Given the description of an element on the screen output the (x, y) to click on. 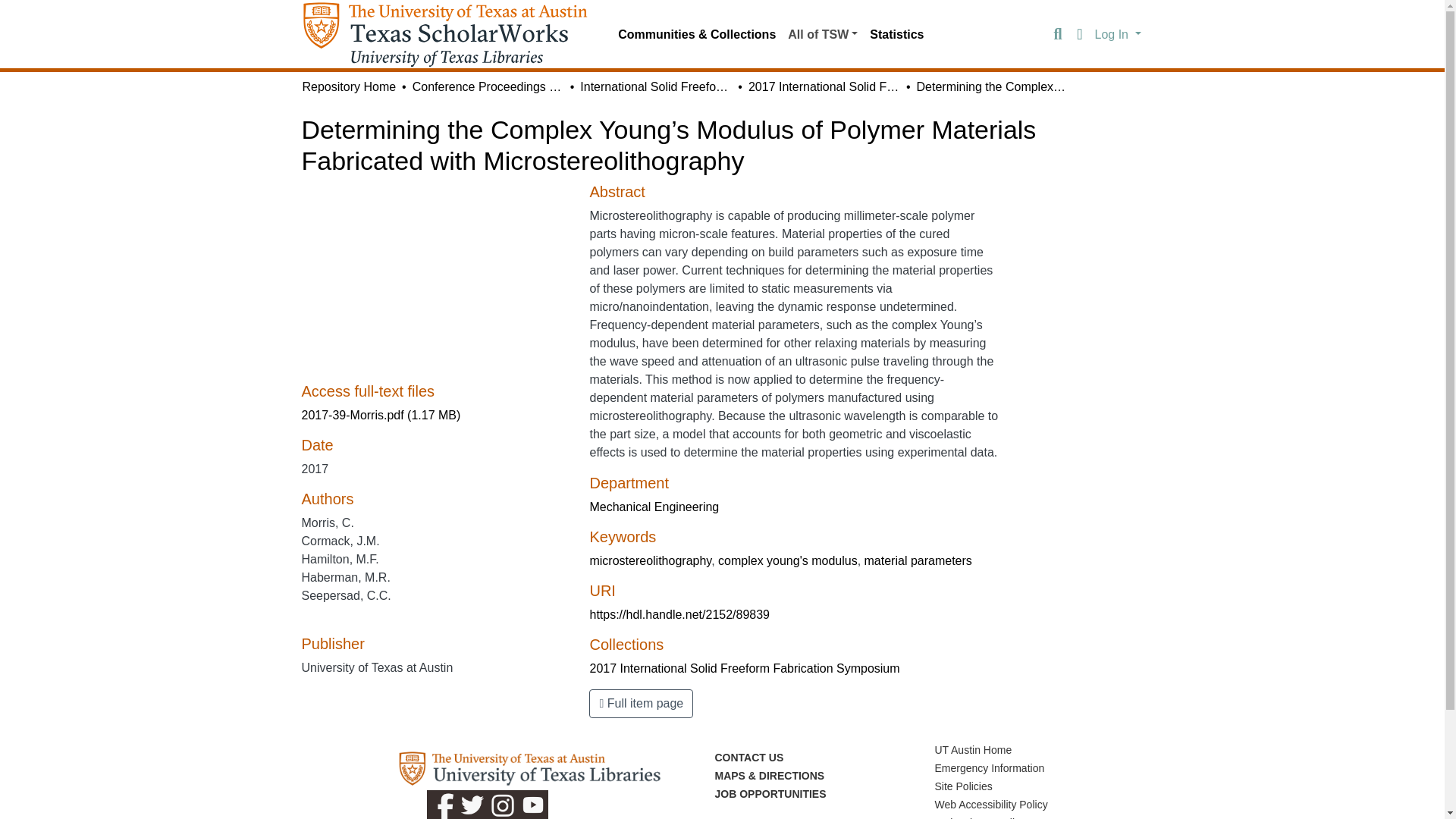
2017 International Solid Freeform Fabrication Symposium (744, 667)
Statistics (896, 34)
Mechanical Engineering (654, 506)
2017 International Solid Freeform Fabrication Symposium (823, 86)
JOB OPPORTUNITIES (769, 793)
Language switch (1079, 34)
material parameters (918, 560)
Search (1057, 34)
CONTACT US (748, 757)
Repository Home (348, 86)
All of TSW (822, 34)
UT Austin Home (972, 749)
International Solid Freeform Fabrication Symposium (655, 86)
microstereolithography (650, 560)
Full item page (641, 703)
